Given the description of an element on the screen output the (x, y) to click on. 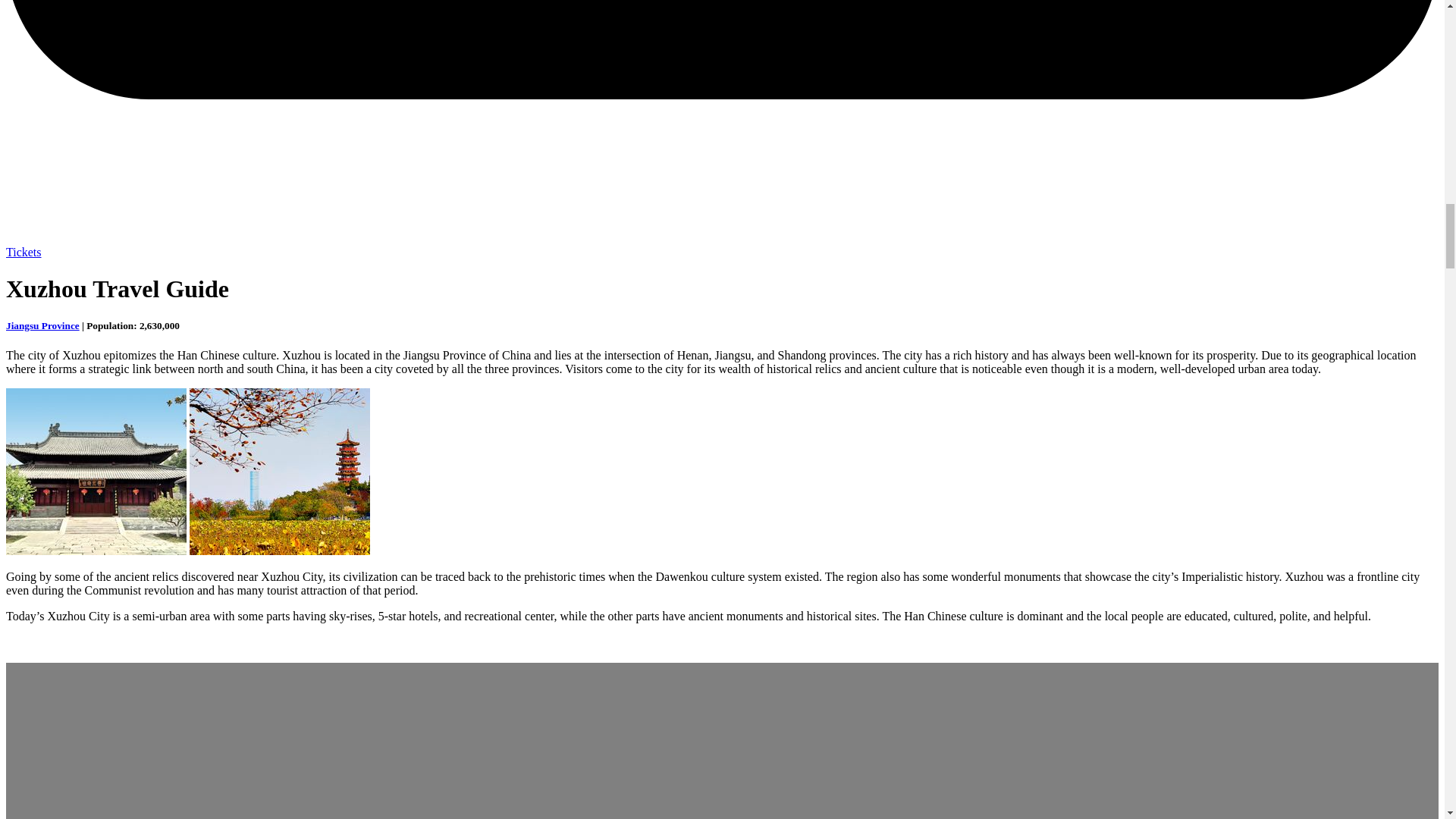
Jiangsu Province (42, 325)
